Given the description of an element on the screen output the (x, y) to click on. 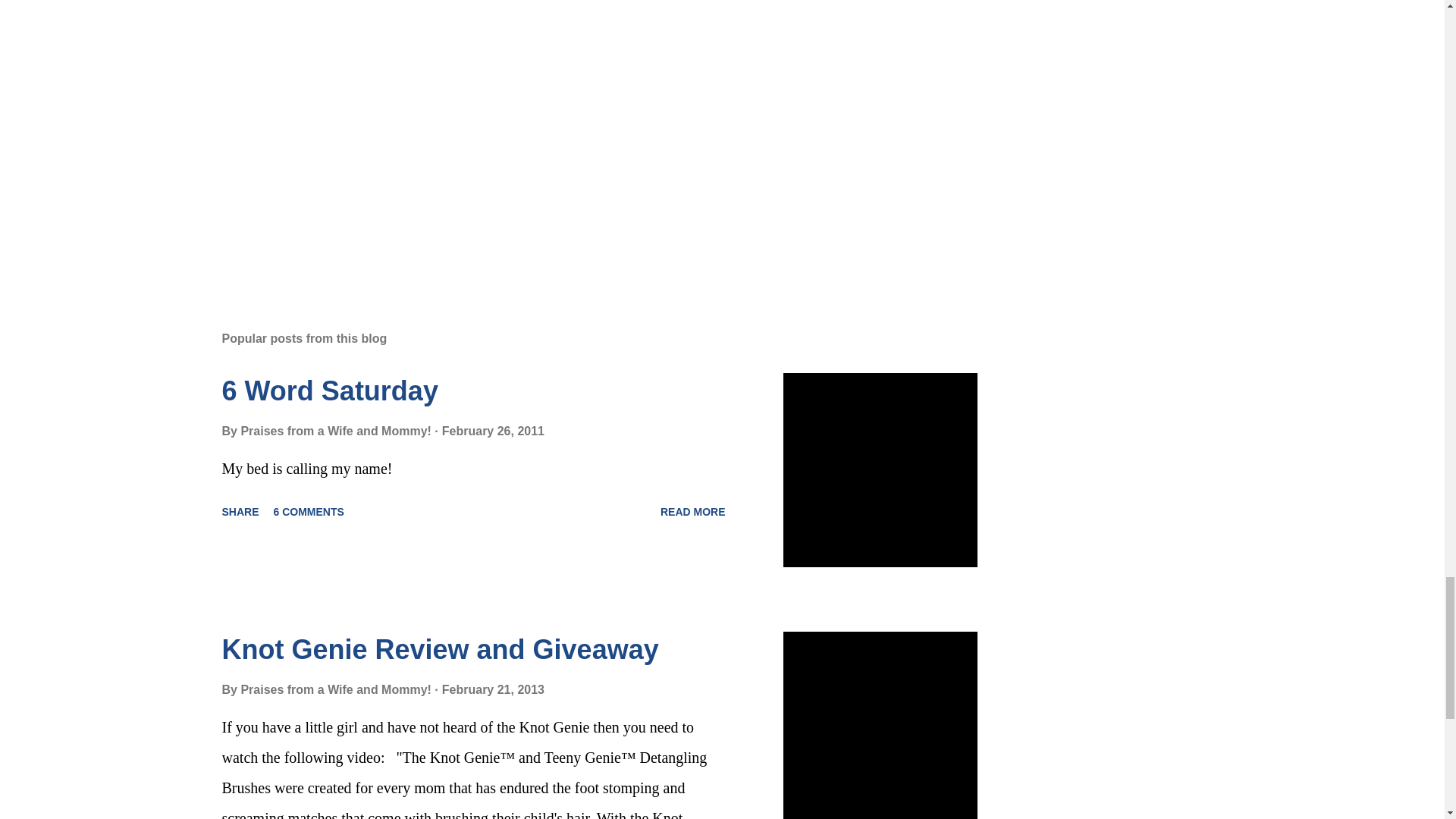
permanent link (493, 431)
SHARE (239, 511)
6 Word Saturday (329, 390)
6 COMMENTS (308, 511)
READ MORE (692, 511)
February 26, 2011 (493, 431)
February 21, 2013 (493, 689)
Knot Genie Review and Giveaway (439, 649)
